Given the description of an element on the screen output the (x, y) to click on. 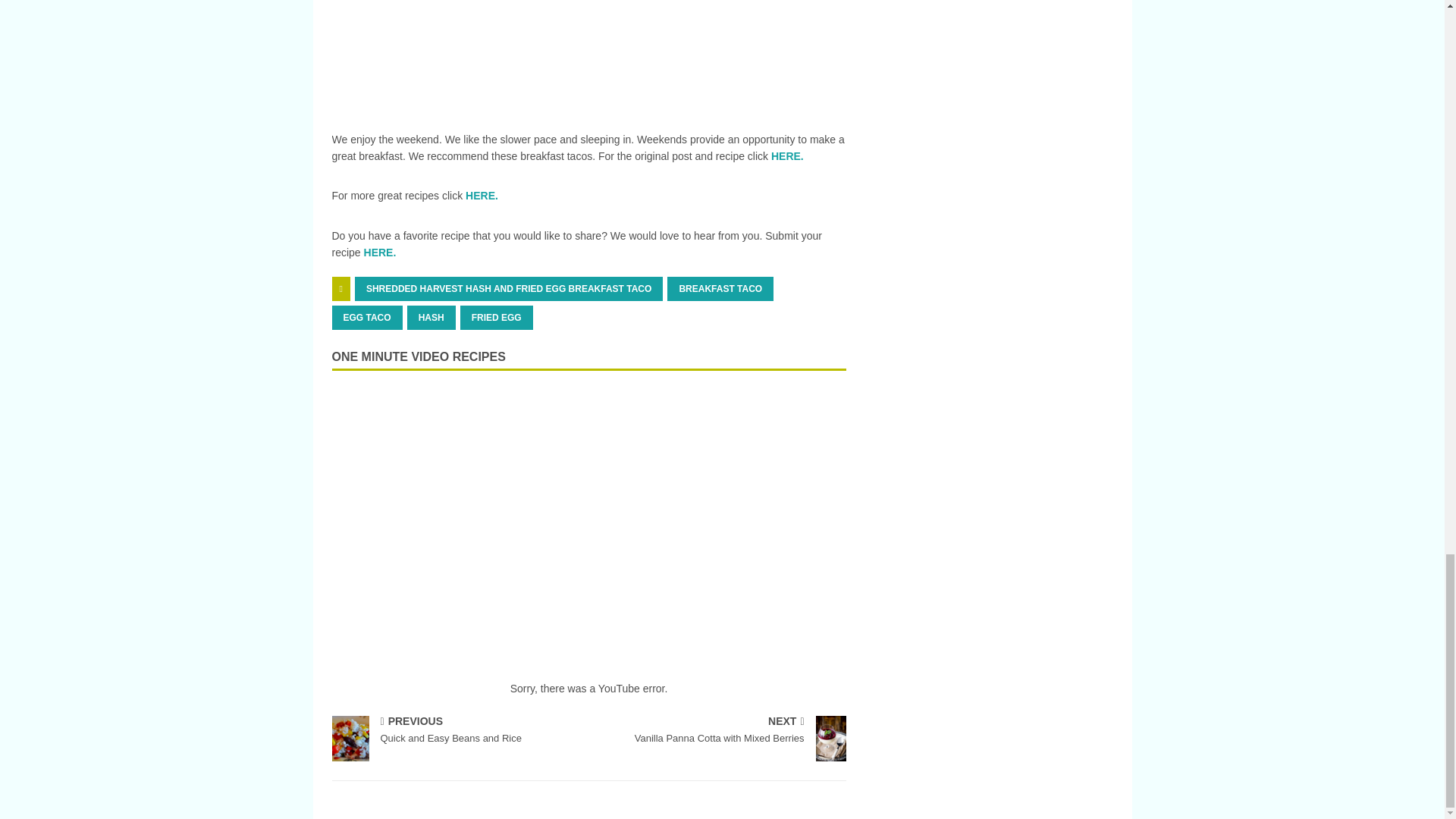
HASH (431, 317)
BREAKFAST TACO (719, 288)
HERE. (380, 252)
HERE. (481, 195)
FRIED EGG (457, 730)
EGG TACO (496, 317)
SHREDDED HARVEST HASH AND FRIED EGG BREAKFAST TACO (367, 317)
HERE. (508, 288)
